Given the description of an element on the screen output the (x, y) to click on. 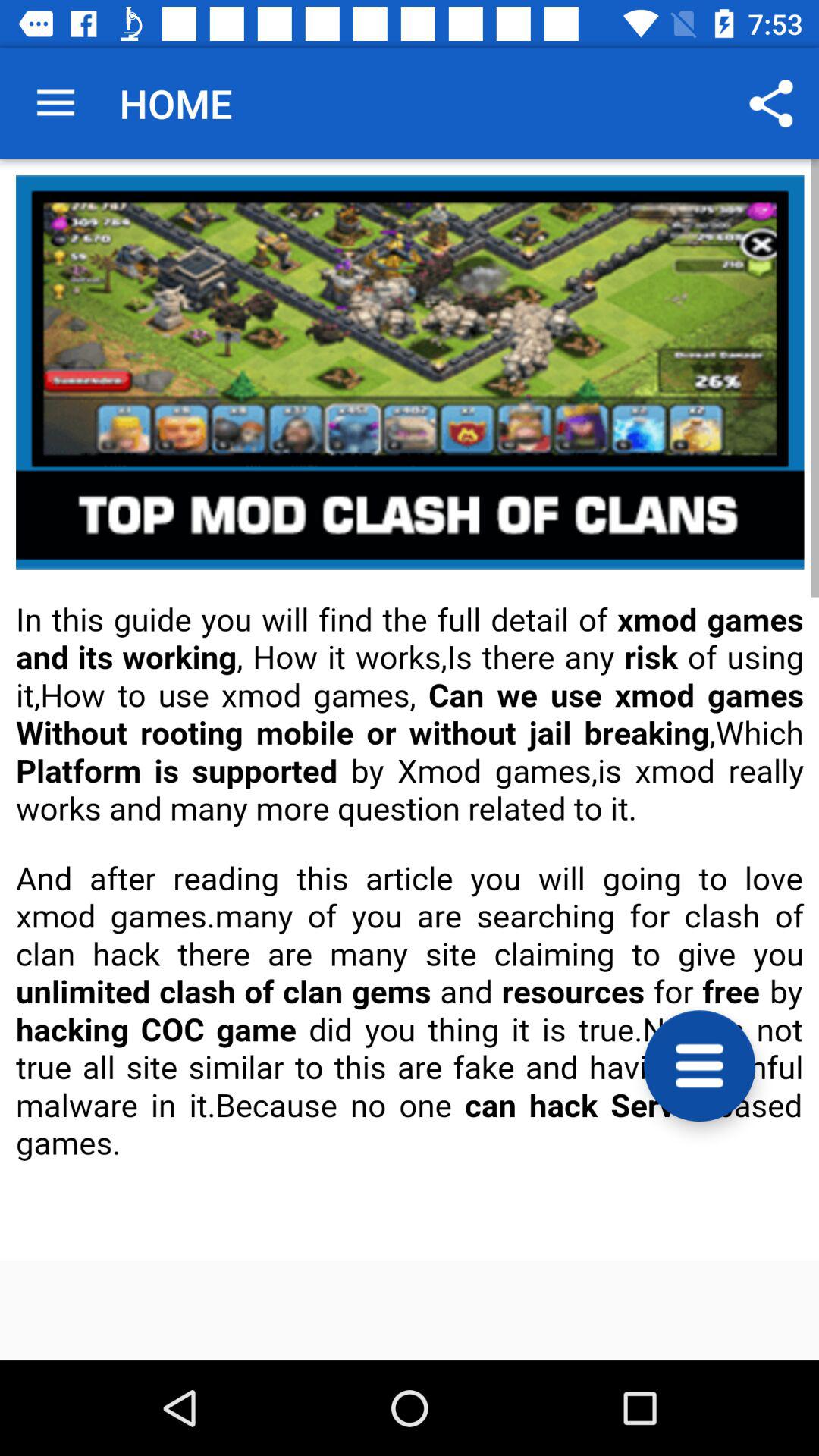
open menu (699, 1065)
